Given the description of an element on the screen output the (x, y) to click on. 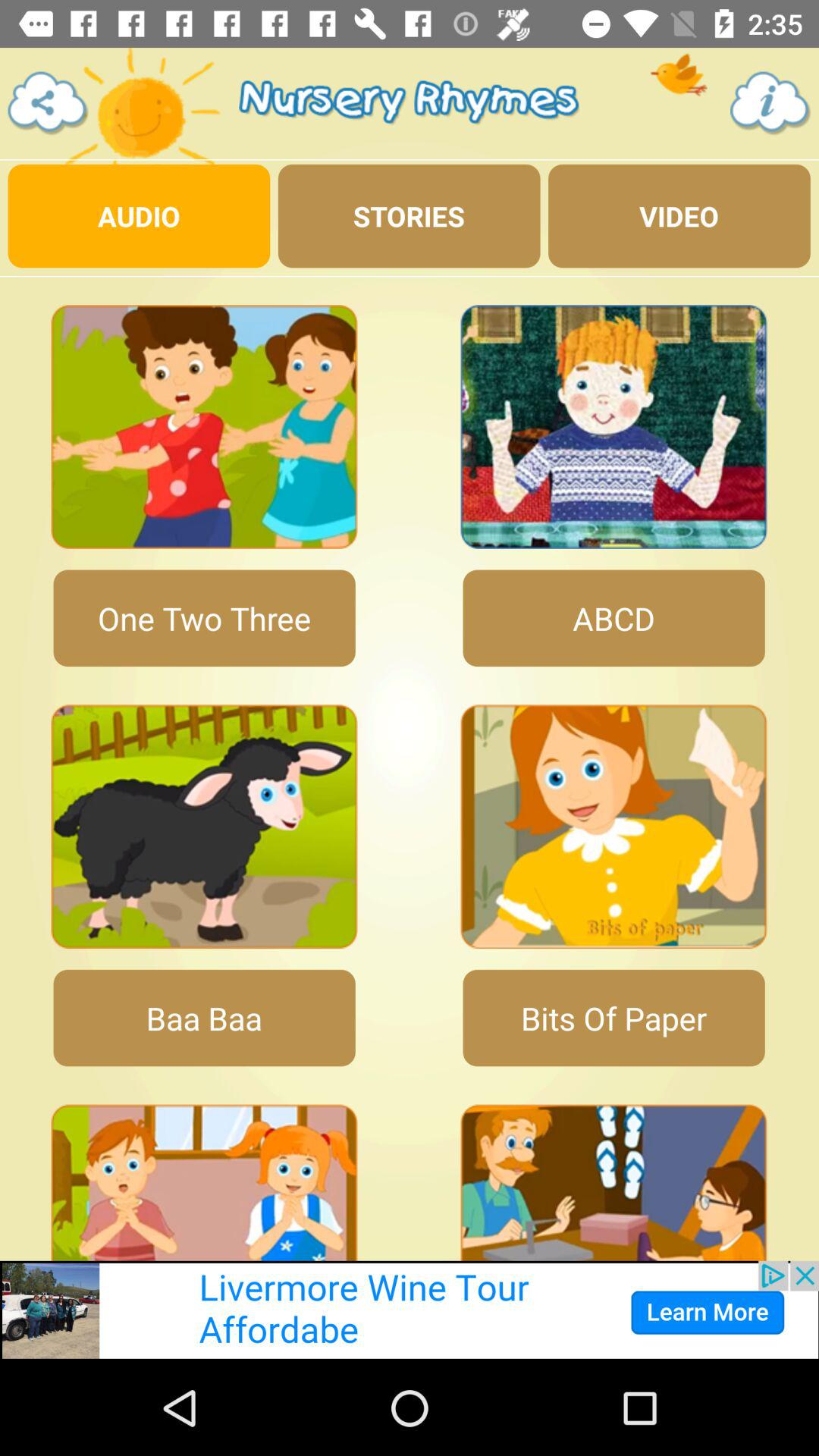
share with others (47, 103)
